Given the description of an element on the screen output the (x, y) to click on. 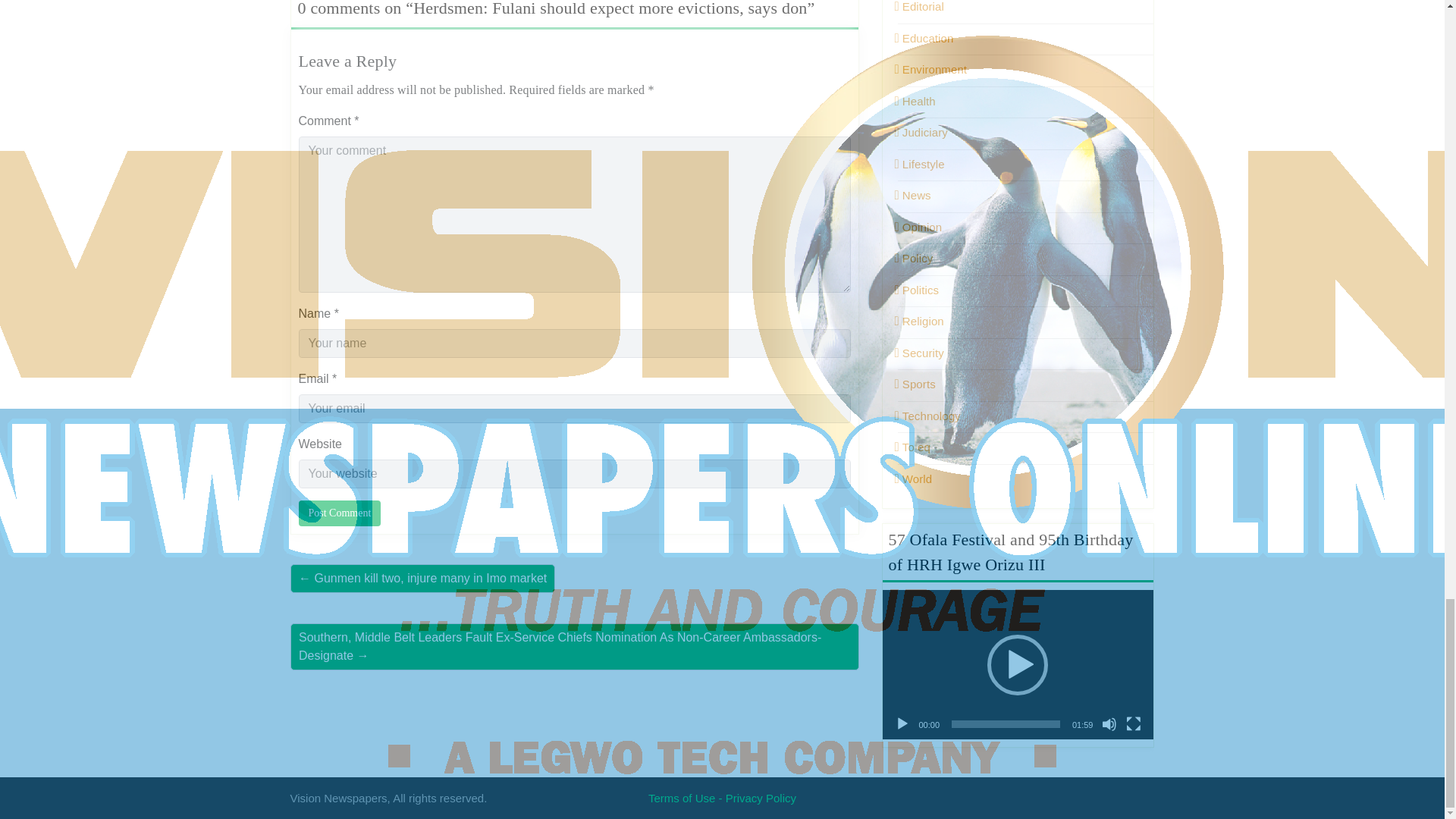
Post Comment (339, 513)
Play (902, 724)
Mute (1109, 724)
Post Comment (339, 513)
